Given the description of an element on the screen output the (x, y) to click on. 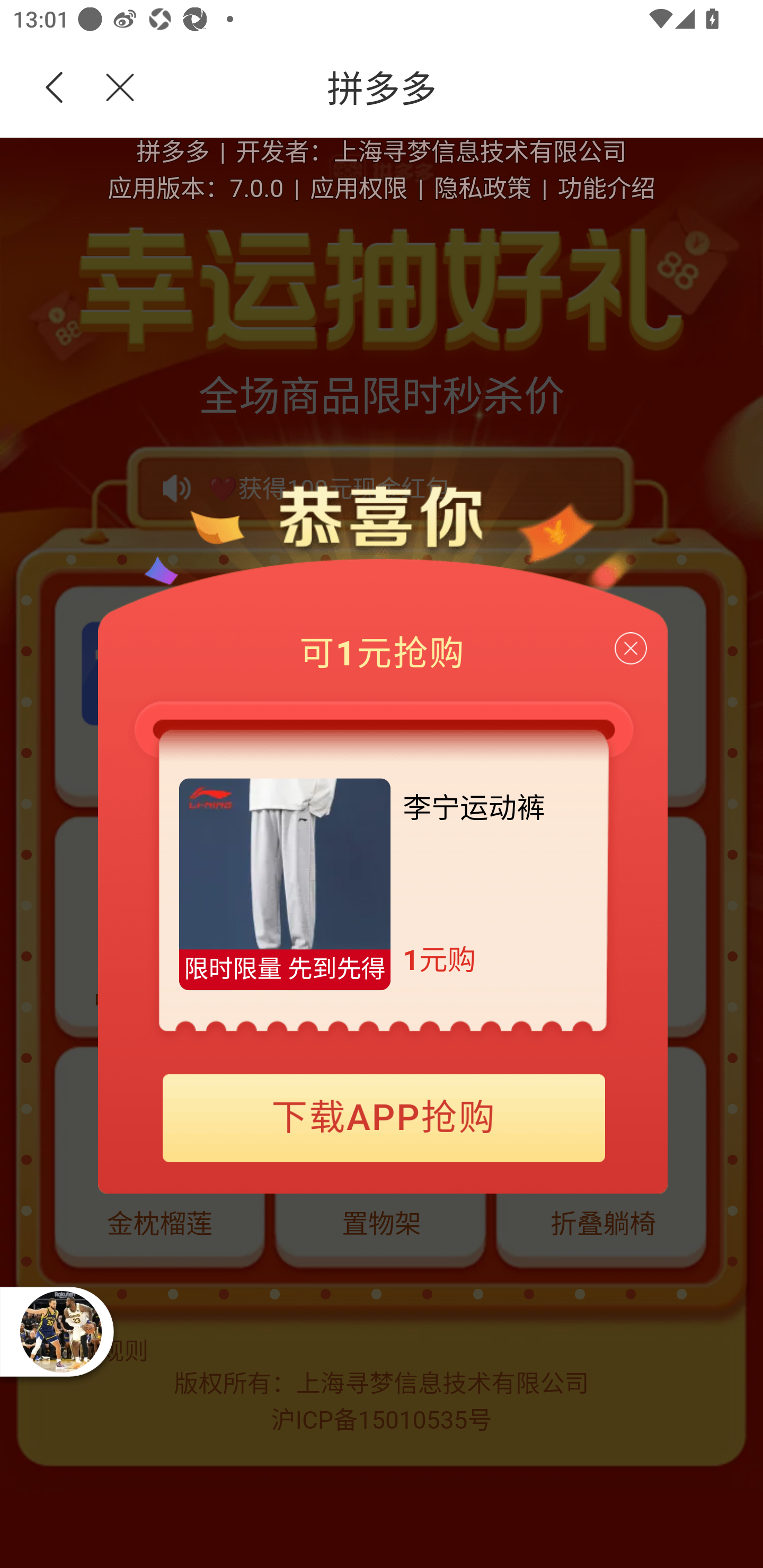
 (109, 87)
拼多多 (451, 87)
 返回 (54, 87)
播放器 (60, 1331)
